Given the description of an element on the screen output the (x, y) to click on. 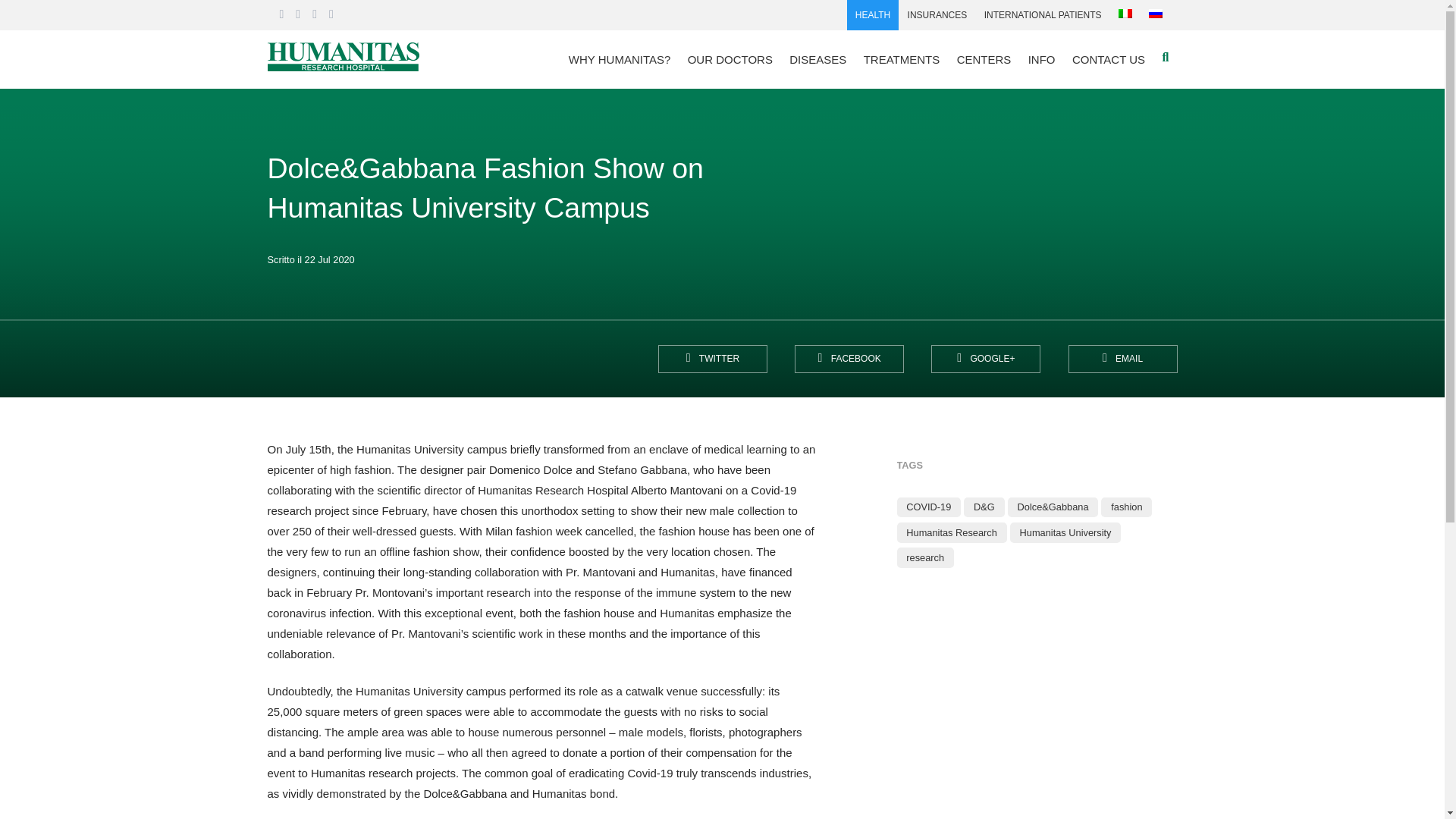
TREATMENTS (902, 59)
TWITTER (712, 358)
fashion (1125, 506)
HEALTH (873, 15)
EMAIL (1121, 358)
CENTERS (983, 59)
Humanitas University (1066, 532)
Send an E-Mail (1121, 358)
Italian (1125, 13)
CONTACT US (1109, 59)
INTERNATIONAL PATIENTS (1042, 15)
DISEASES (817, 59)
Russian (1154, 13)
research (924, 557)
INFO (1040, 59)
